Given the description of an element on the screen output the (x, y) to click on. 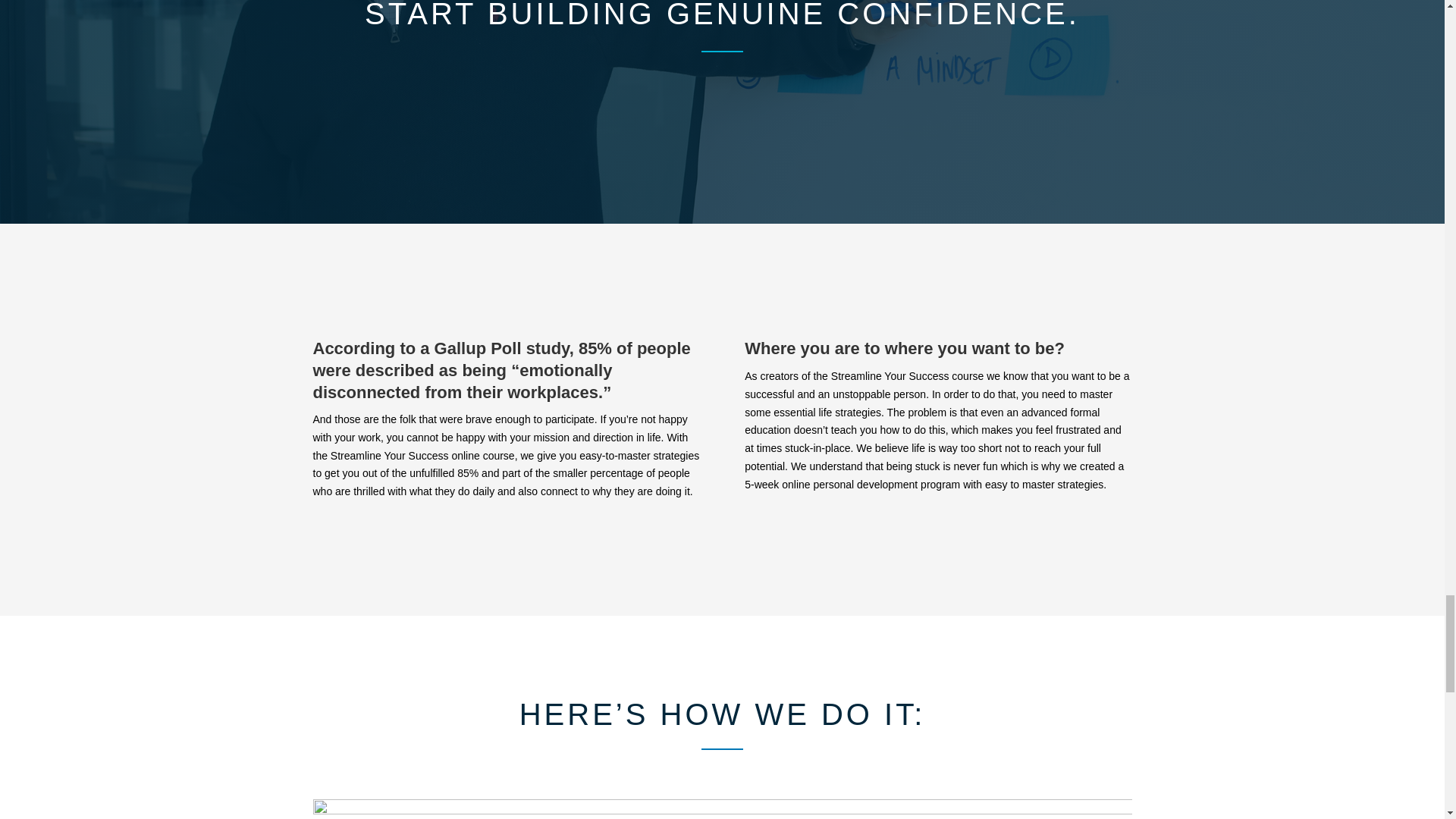
Plan-Section (722, 809)
